Given the description of an element on the screen output the (x, y) to click on. 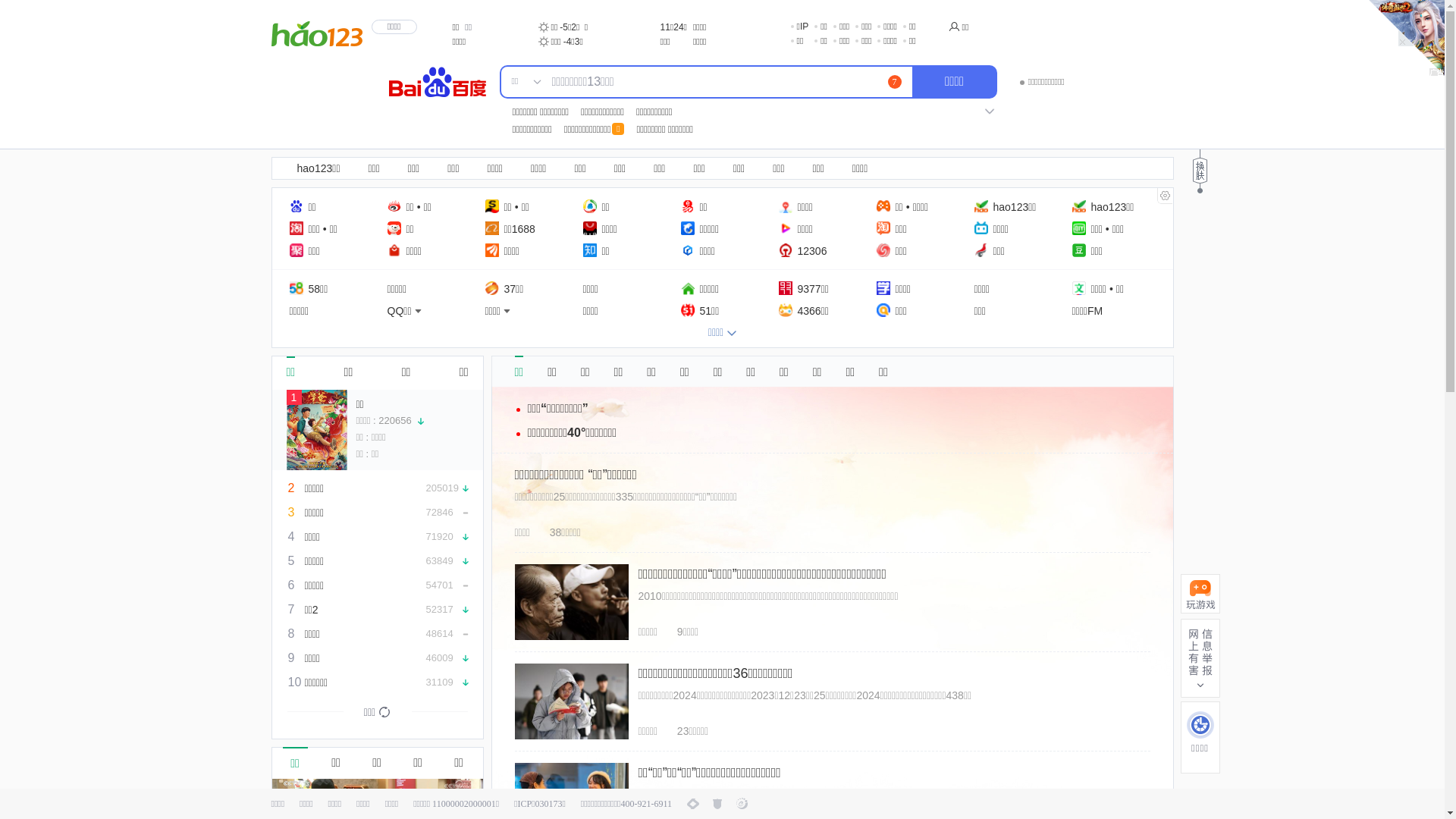
7 Element type: text (893, 81)
12306 Element type: text (802, 250)
